Given the description of an element on the screen output the (x, y) to click on. 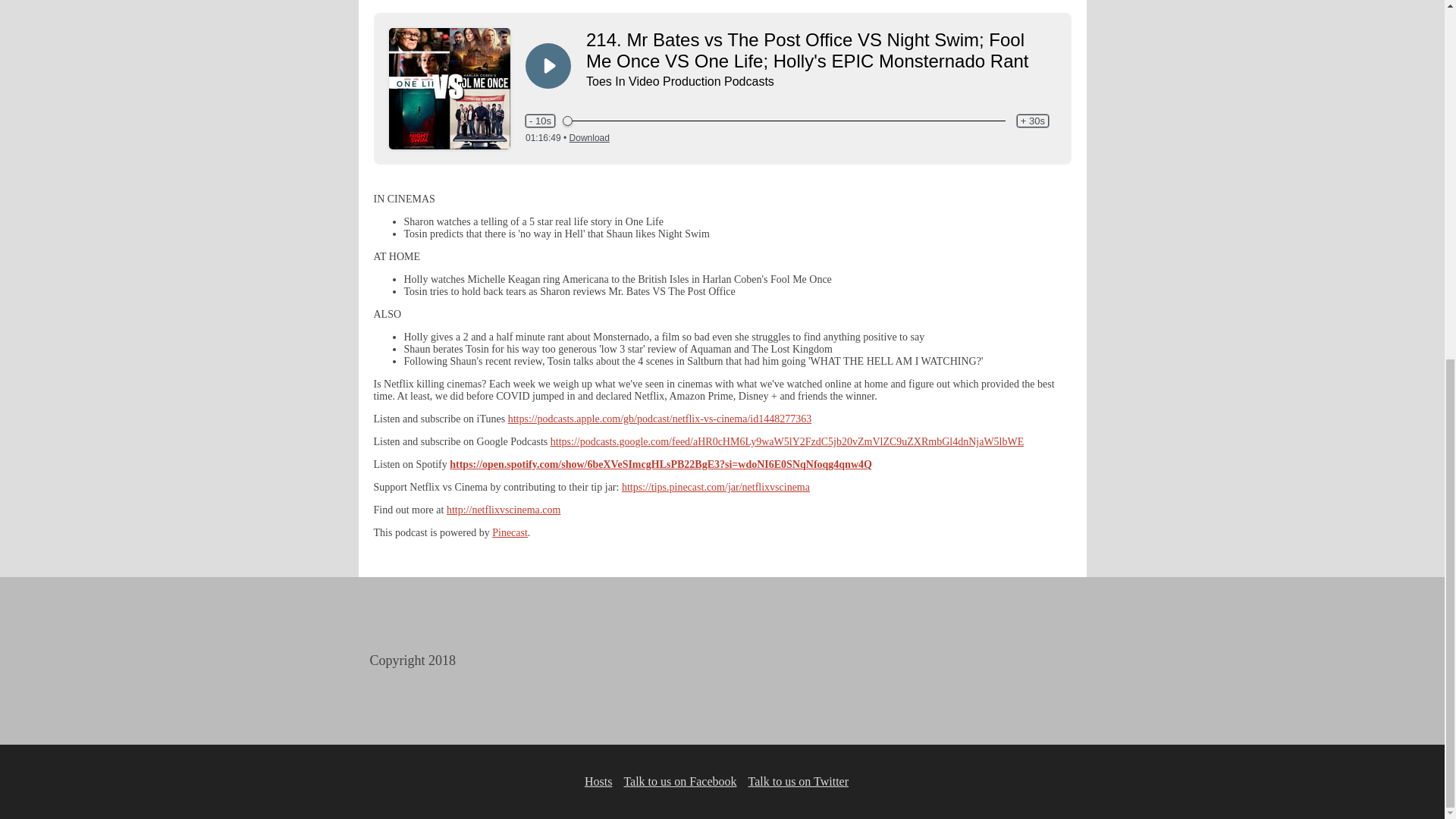
Talk to us on Facebook (679, 780)
Pinecast (509, 532)
Hosts (598, 780)
Talk to us on Twitter (798, 780)
